Given the description of an element on the screen output the (x, y) to click on. 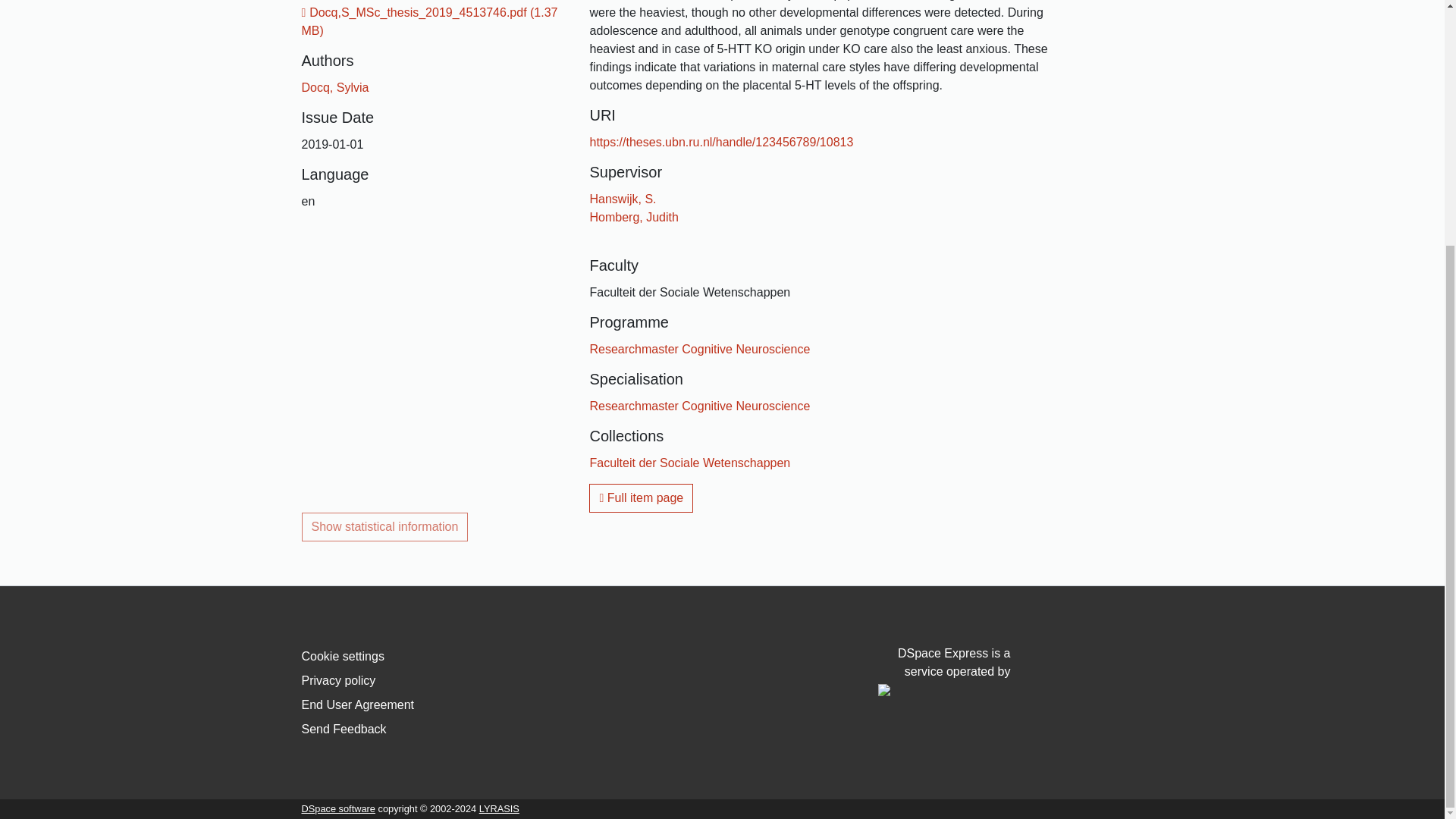
LYRASIS (499, 808)
Privacy policy (338, 680)
Full item page (641, 498)
Faculteit der Sociale Wetenschappen (689, 462)
Send Feedback (344, 728)
DSpace Express is a service operated by (943, 671)
End User Agreement (357, 704)
Researchmaster Cognitive Neuroscience (699, 349)
Hanswijk, S. (622, 198)
Show statistical information (384, 526)
